Given the description of an element on the screen output the (x, y) to click on. 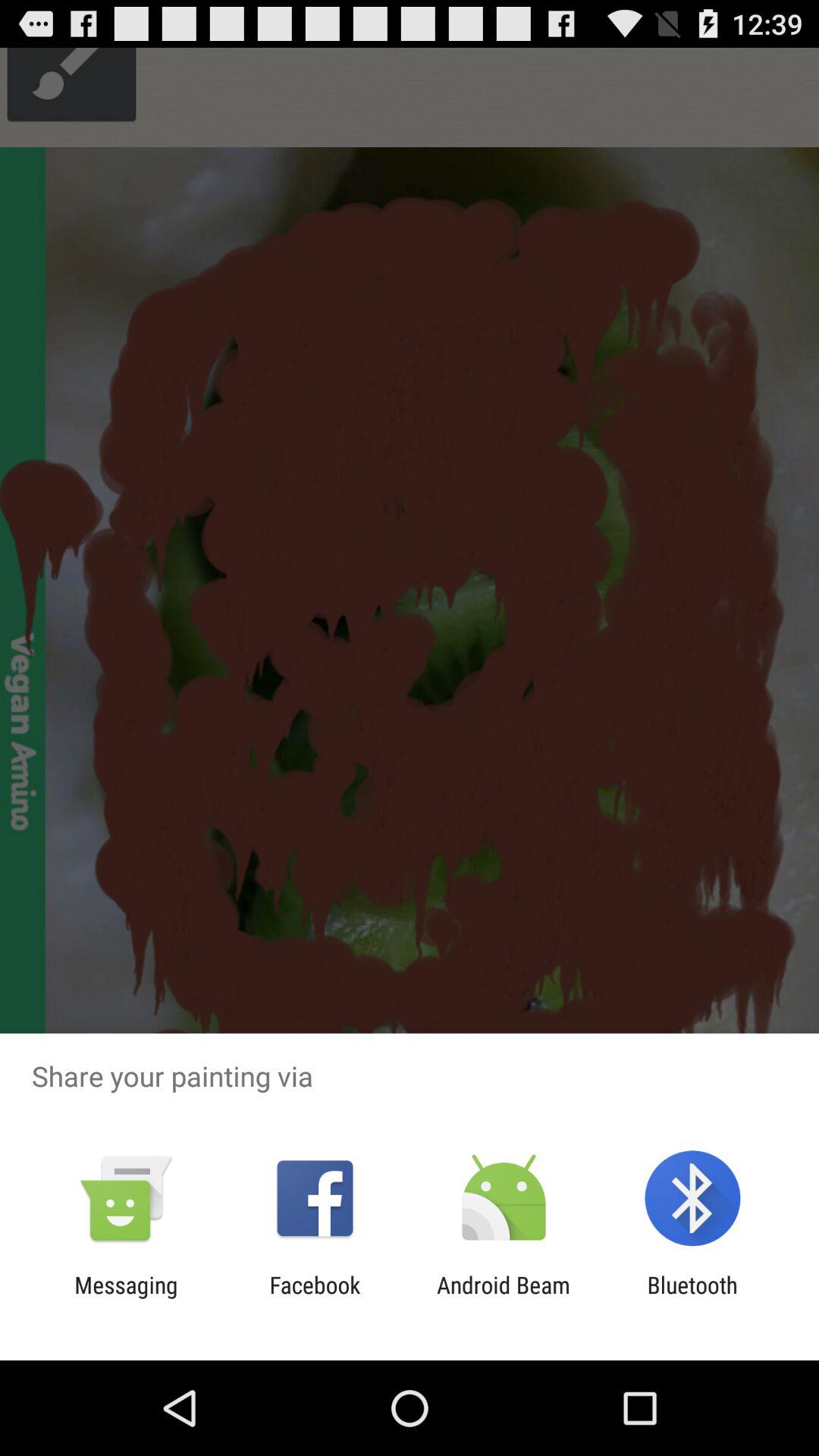
launch the icon to the left of the android beam (314, 1298)
